Given the description of an element on the screen output the (x, y) to click on. 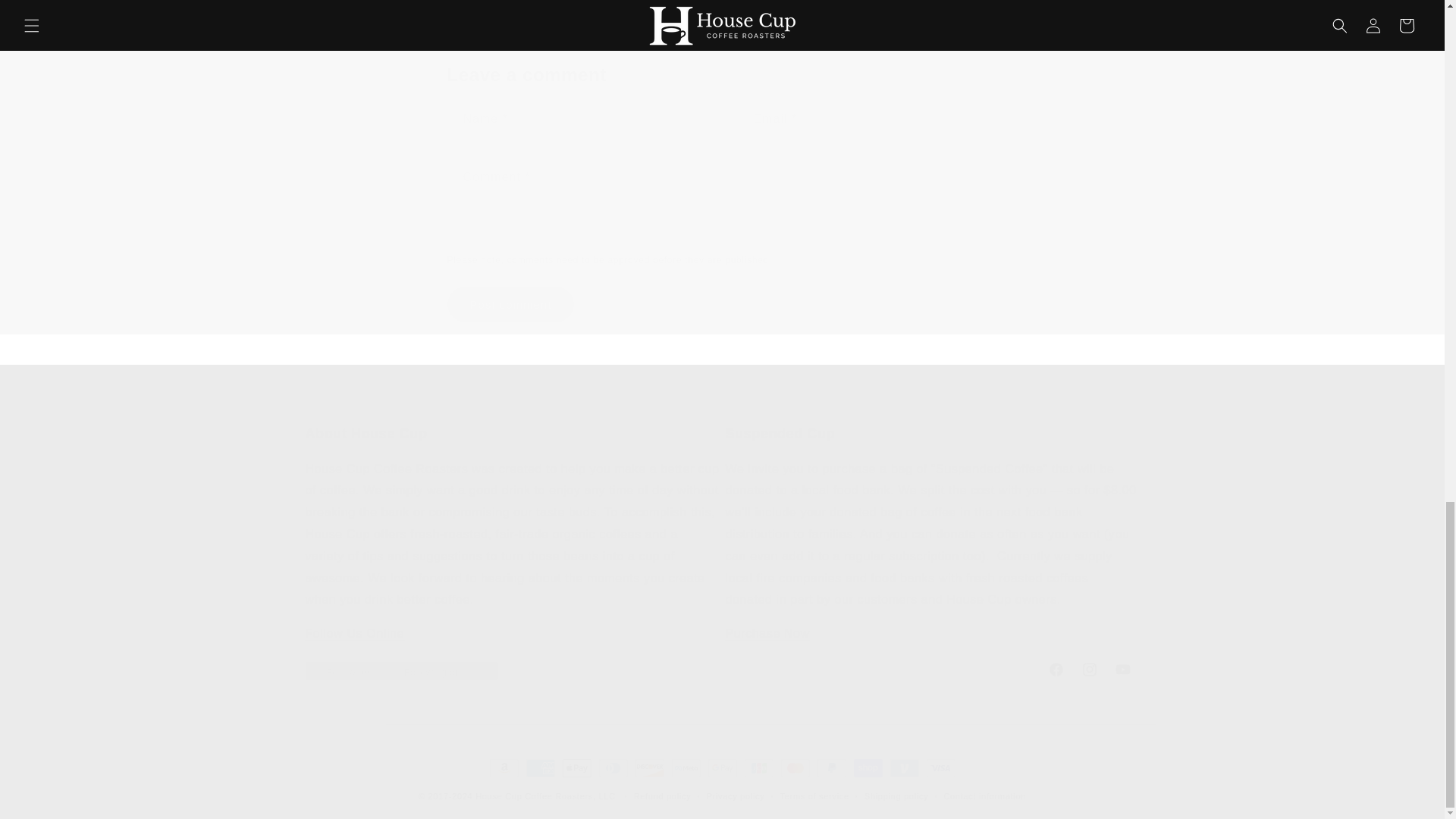
Post comment (510, 304)
Purchase Now (767, 633)
Terms of service (814, 796)
Instagram (1088, 669)
Post comment (510, 304)
Refund policy (662, 796)
YouTube (1121, 669)
Privacy policy (735, 796)
House Cup Coffee Roasters (534, 795)
Facebook (721, 669)
Shipping policy (1055, 669)
Suspended Coffee Donation (896, 796)
Follow Us Online (767, 633)
